Given the description of an element on the screen output the (x, y) to click on. 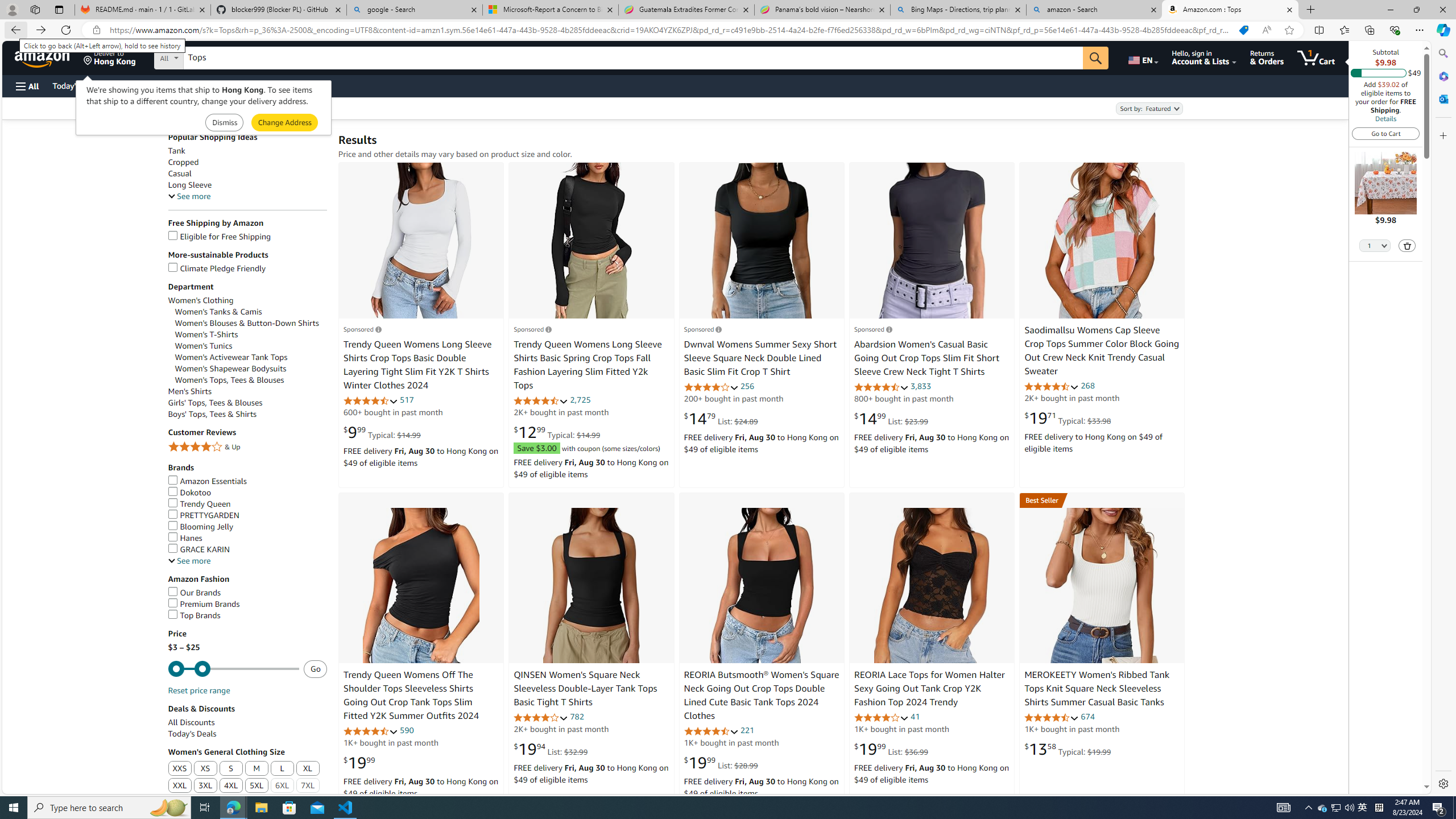
Go (1096, 57)
Hanes (247, 537)
4XL (230, 785)
Search Amazon (633, 57)
Women's Tops, Tees & Blouses (228, 380)
4.6 out of 5 stars (711, 730)
Women's Tops, Tees & Blouses (250, 379)
See more, Brands (189, 560)
amazon - Search (1094, 9)
